Given the description of an element on the screen output the (x, y) to click on. 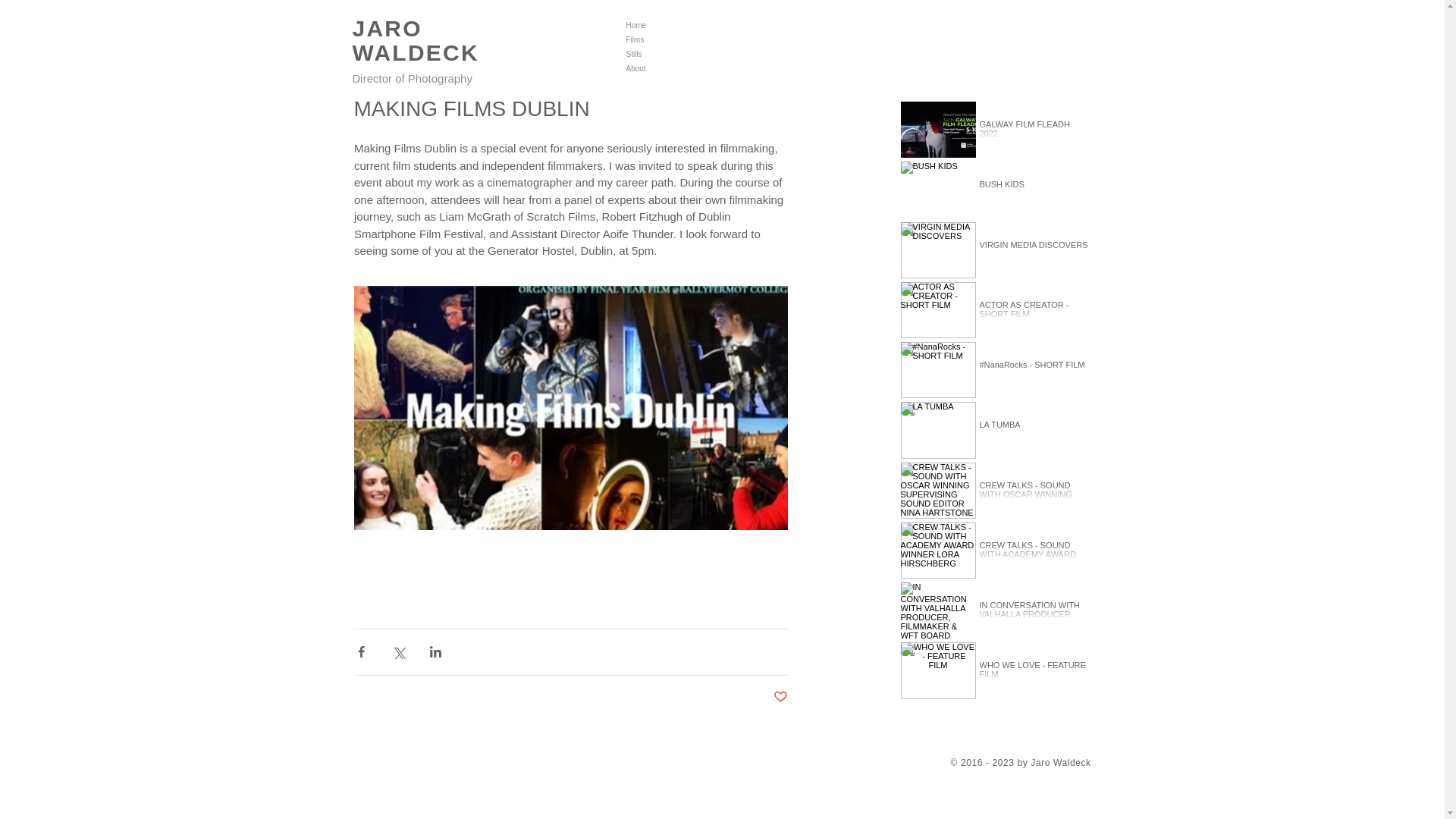
WHO WE LOVE - FEATURE FILM (1034, 673)
JARO WALDECK (415, 44)
BUSH KIDS (1034, 188)
Stills (667, 53)
VIRGIN MEDIA DISCOVERS (1034, 248)
LA TUMBA (1034, 429)
Post not marked as liked (780, 697)
About (667, 68)
Home (667, 25)
